Given the description of an element on the screen output the (x, y) to click on. 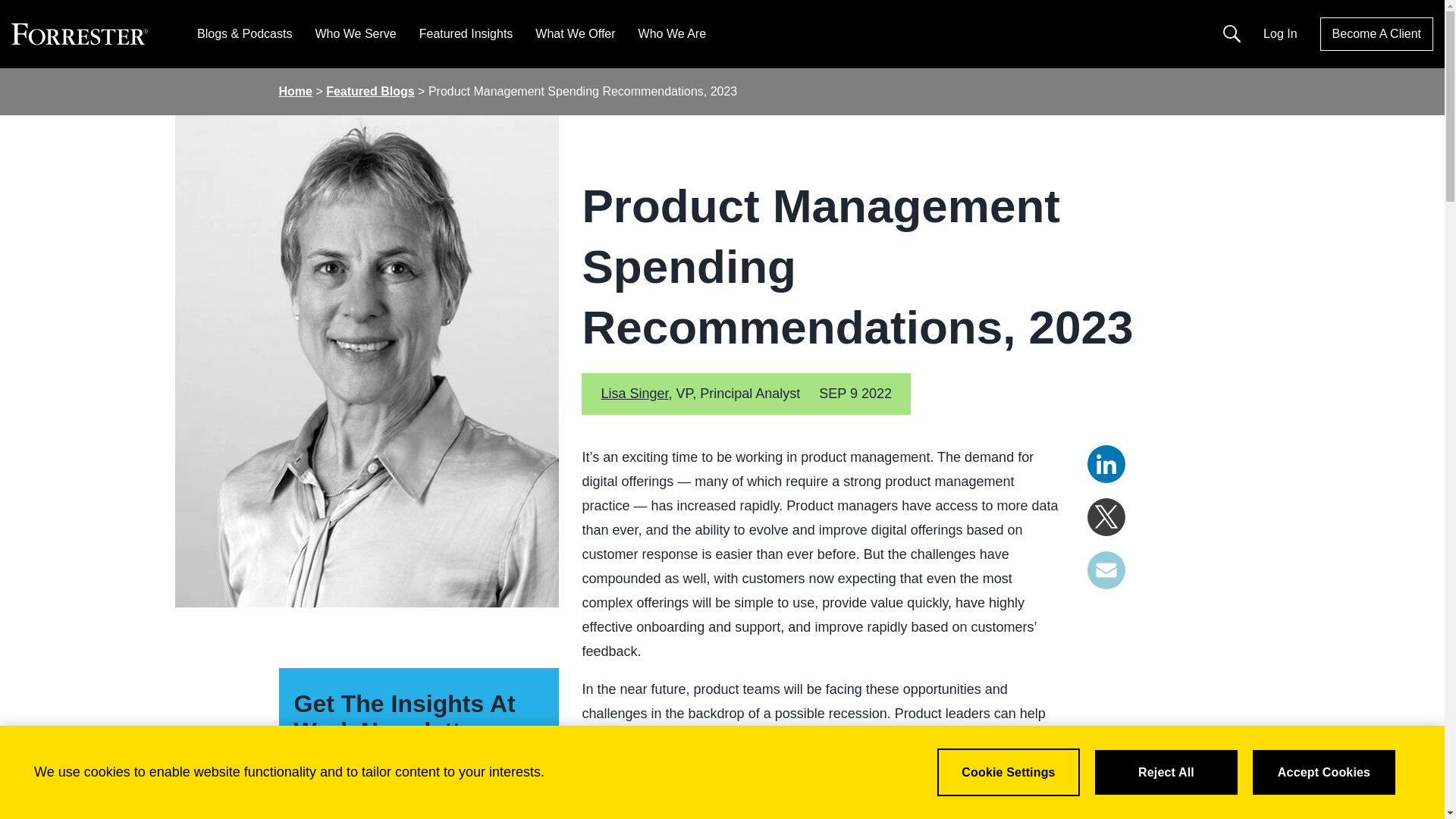
What We Offer (574, 33)
Posts by Lisa Singer (633, 392)
Featured Insights (466, 33)
Who We Serve (355, 33)
